Given the description of an element on the screen output the (x, y) to click on. 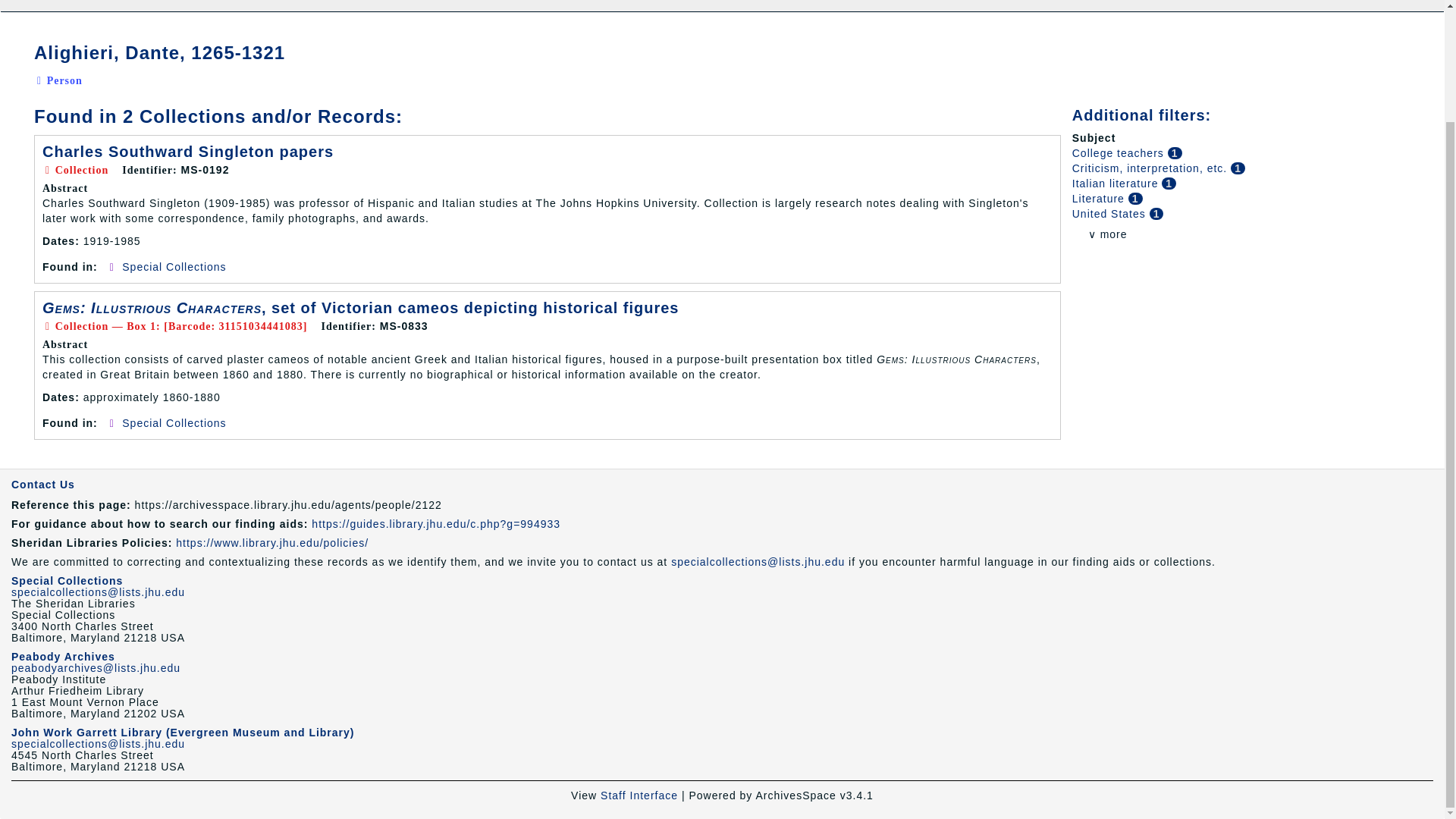
Italian literature (1116, 183)
Search The Archives (38, 5)
Staff Interface (638, 795)
Search The Archives (38, 5)
Special Collections (173, 266)
United States (1110, 214)
Filter By 'United States' (1110, 214)
Charles Southward Singleton papers (187, 151)
Filter By 'College teachers' (1119, 152)
Criticism, interpretation, etc. (1150, 168)
Peabody Archives (63, 656)
Special Collections (173, 422)
Page Actions (1130, 35)
Literature (1099, 198)
